Given the description of an element on the screen output the (x, y) to click on. 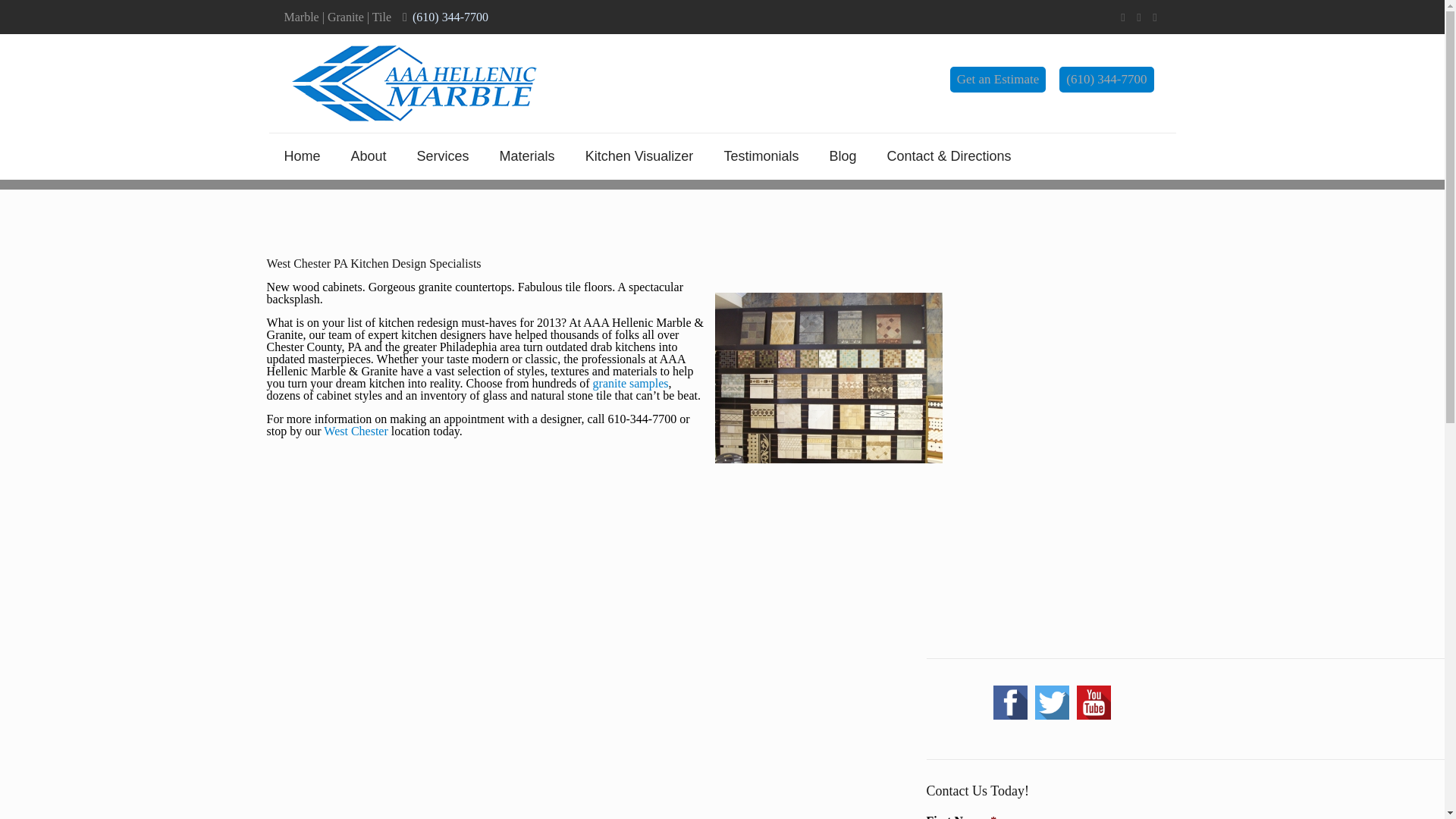
Get an Estimate (998, 79)
West Chester (355, 431)
Kitchen Visualizer (639, 156)
Contact (355, 431)
Facebook (1123, 17)
About (368, 156)
Blog (841, 156)
Home (300, 156)
Testimonials (760, 156)
YouTube (1155, 17)
Gallery (630, 382)
Materials (527, 156)
granite samples (630, 382)
Services (442, 156)
